Given the description of an element on the screen output the (x, y) to click on. 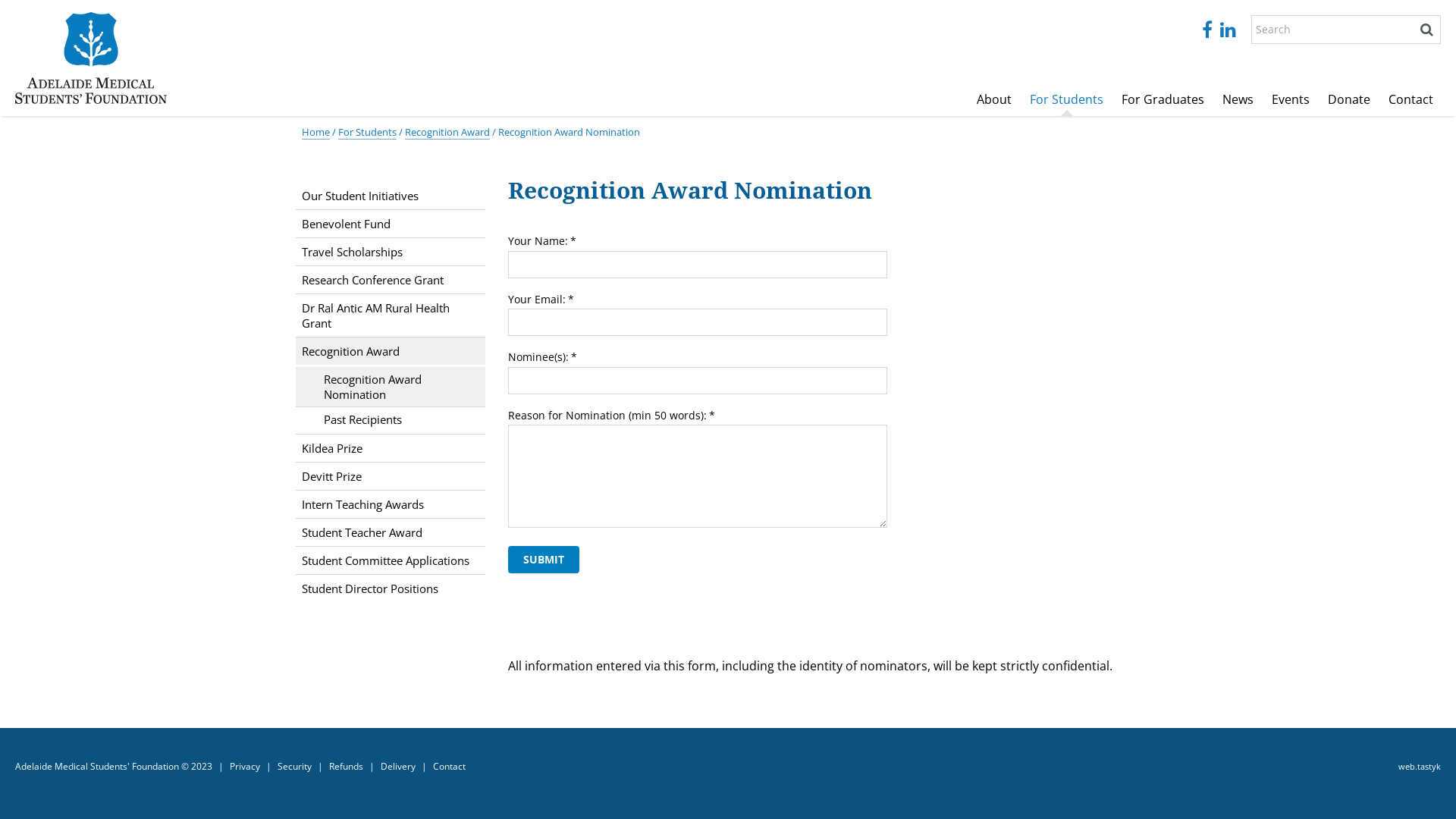
For Students Element type: text (367, 132)
Travel Scholarships Element type: text (390, 251)
Donate Element type: text (1348, 100)
Refunds Element type: text (346, 766)
Devitt Prize Element type: text (390, 475)
Student Director Positions Element type: text (390, 588)
Past Recipients Element type: text (390, 419)
About Element type: text (993, 100)
Recognition Award Element type: text (390, 350)
Delivery Element type: text (397, 766)
Events Element type: text (1290, 100)
Security Element type: text (294, 766)
For Students Element type: text (1066, 100)
web.tastyk Element type: text (1419, 766)
Contact Element type: text (1410, 100)
News Element type: text (1237, 100)
Kildea Prize Element type: text (390, 447)
For Graduates Element type: text (1162, 100)
Student Committee Applications Element type: text (390, 560)
Research Conference Grant Element type: text (390, 279)
Contact Element type: text (449, 766)
Privacy Element type: text (244, 766)
Our Student Initiatives Element type: text (390, 195)
Dr Ral Antic AM Rural Health Grant Element type: text (390, 315)
Recognition Award Nomination Element type: text (390, 386)
Home Element type: text (315, 132)
Recognition Award Element type: text (446, 132)
Submit Element type: text (543, 559)
Search Element type: hover (1426, 29)
Intern Teaching Awards Element type: text (390, 503)
Student Teacher Award Element type: text (390, 532)
Benevolent Fund Element type: text (390, 223)
